Given the description of an element on the screen output the (x, y) to click on. 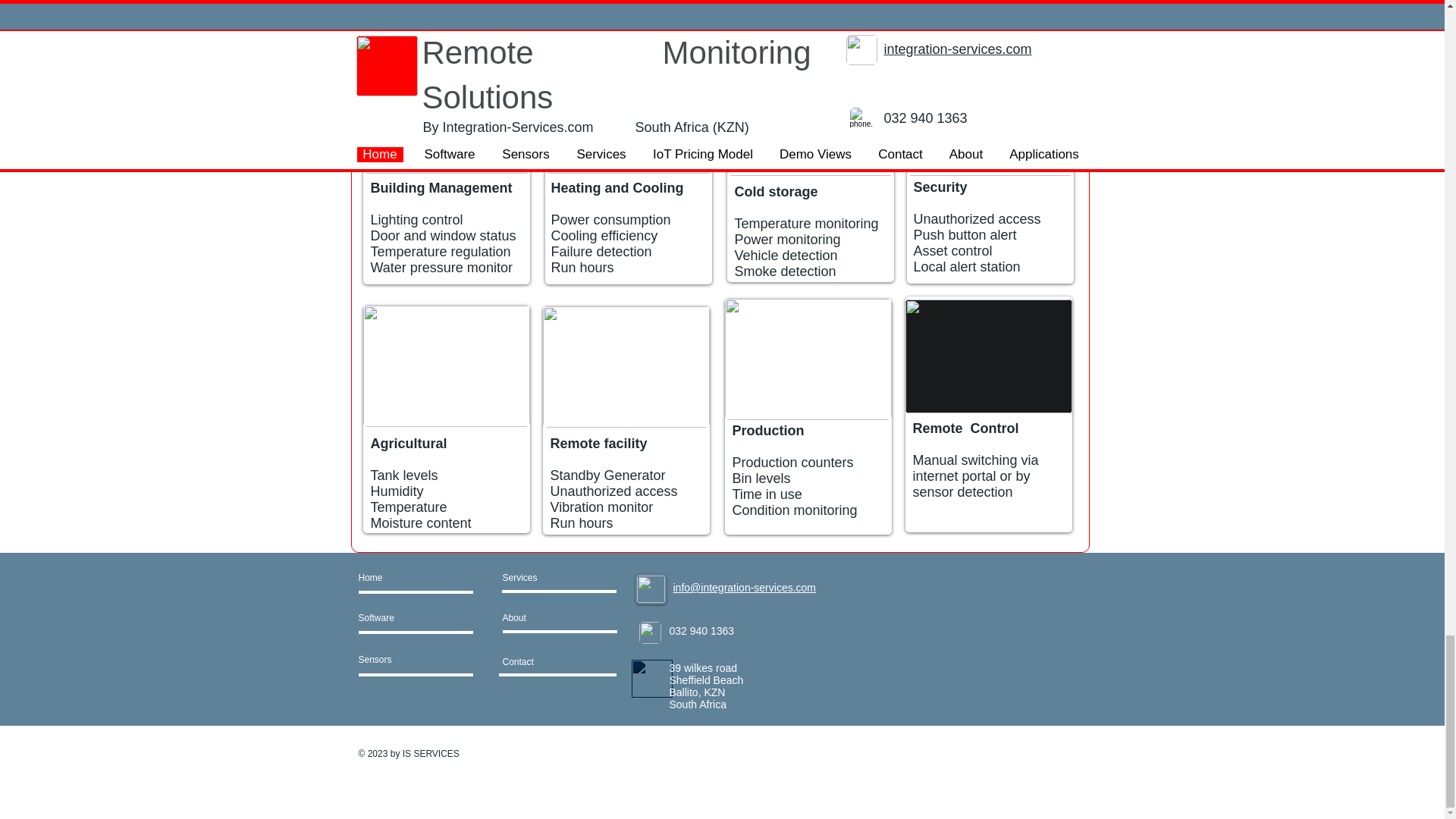
Contact (537, 661)
Services (559, 577)
Sensors (398, 659)
About (542, 617)
Home (416, 577)
Software (401, 617)
